Given the description of an element on the screen output the (x, y) to click on. 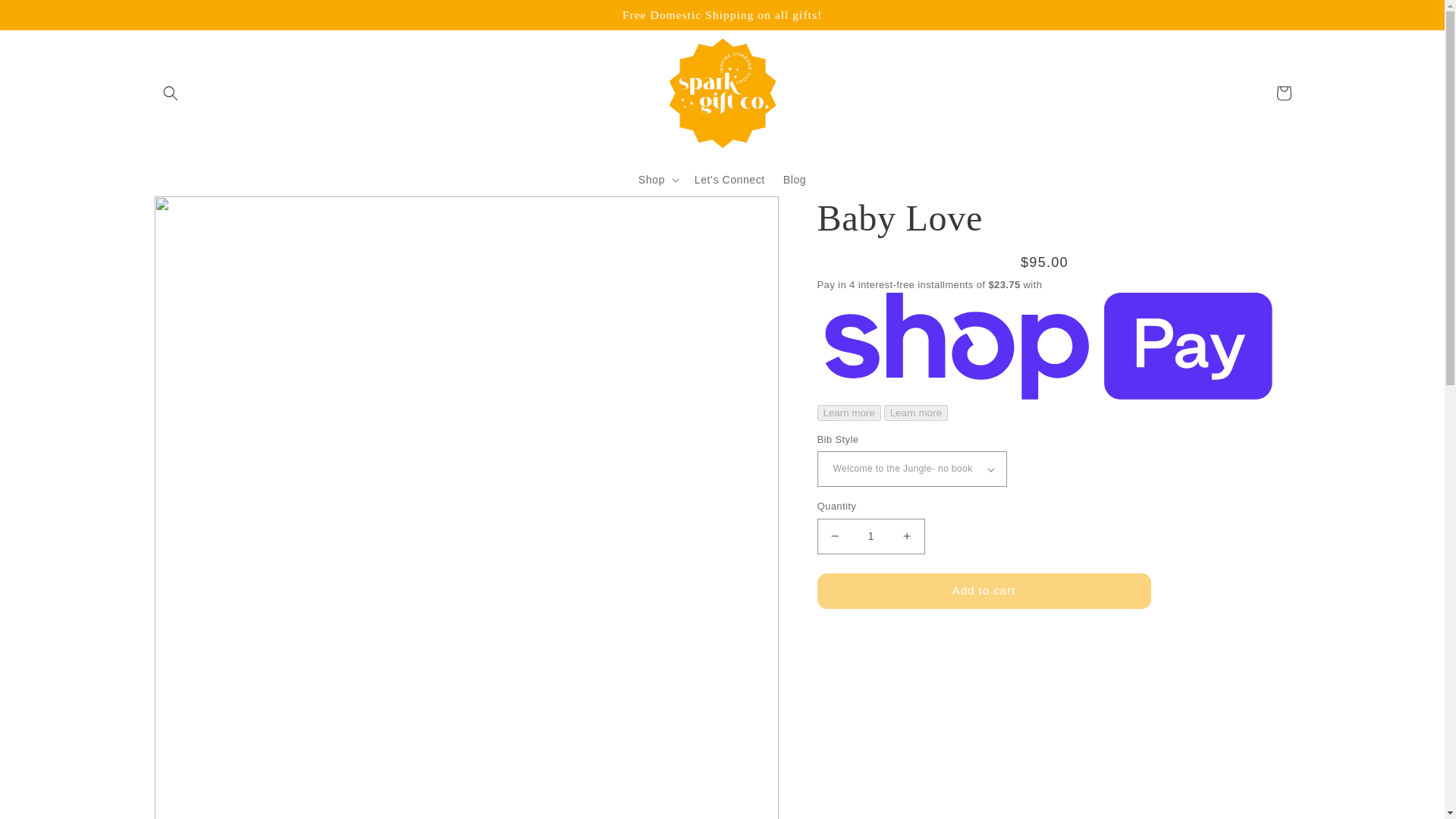
Skip to product information (199, 212)
Let's Connect (729, 179)
Cart (1283, 92)
Blog (794, 179)
Skip to content (45, 17)
1 (870, 536)
